Given the description of an element on the screen output the (x, y) to click on. 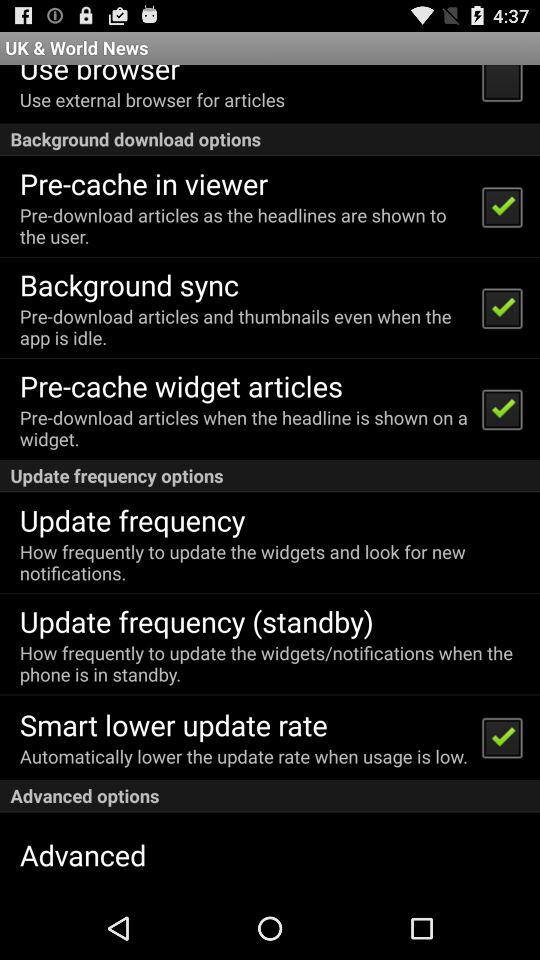
turn on background download options (270, 138)
